Given the description of an element on the screen output the (x, y) to click on. 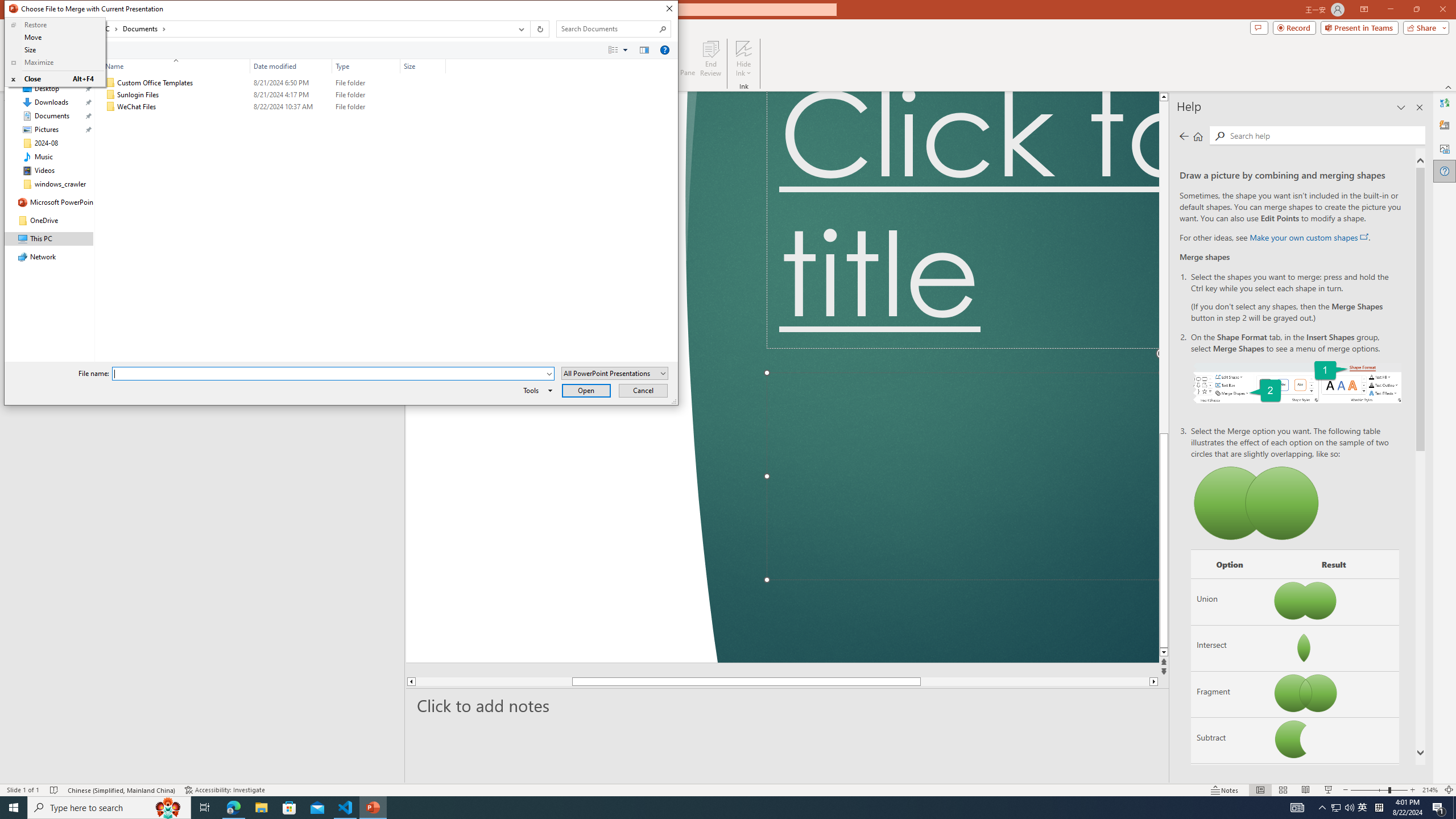
Forward (Alt + Right Arrow) (31, 28)
Combine (1229, 786)
Restore (54, 24)
On the Shape Format tab, select Merge Shapes. (1296, 381)
Line down (1245, 652)
Date modified (290, 65)
Size (422, 106)
Union (1229, 601)
